Given the description of an element on the screen output the (x, y) to click on. 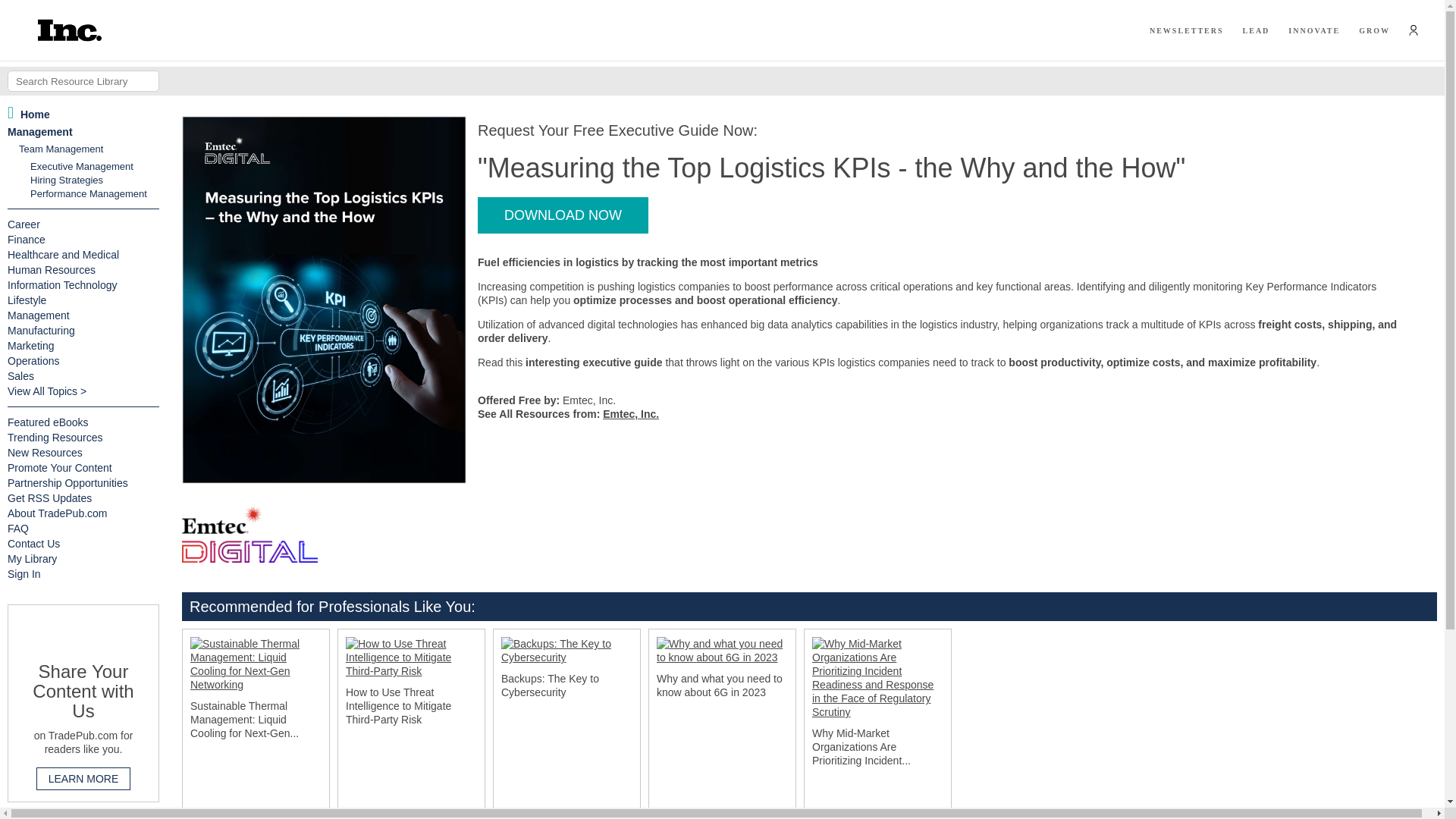
Continue to Lead on Inc.com (1256, 30)
Continue to Grow on Inc.com (1374, 30)
Continue to Innovate on Inc.com (1313, 30)
Continue to Newsletters on Inc.com (1187, 30)
